Given the description of an element on the screen output the (x, y) to click on. 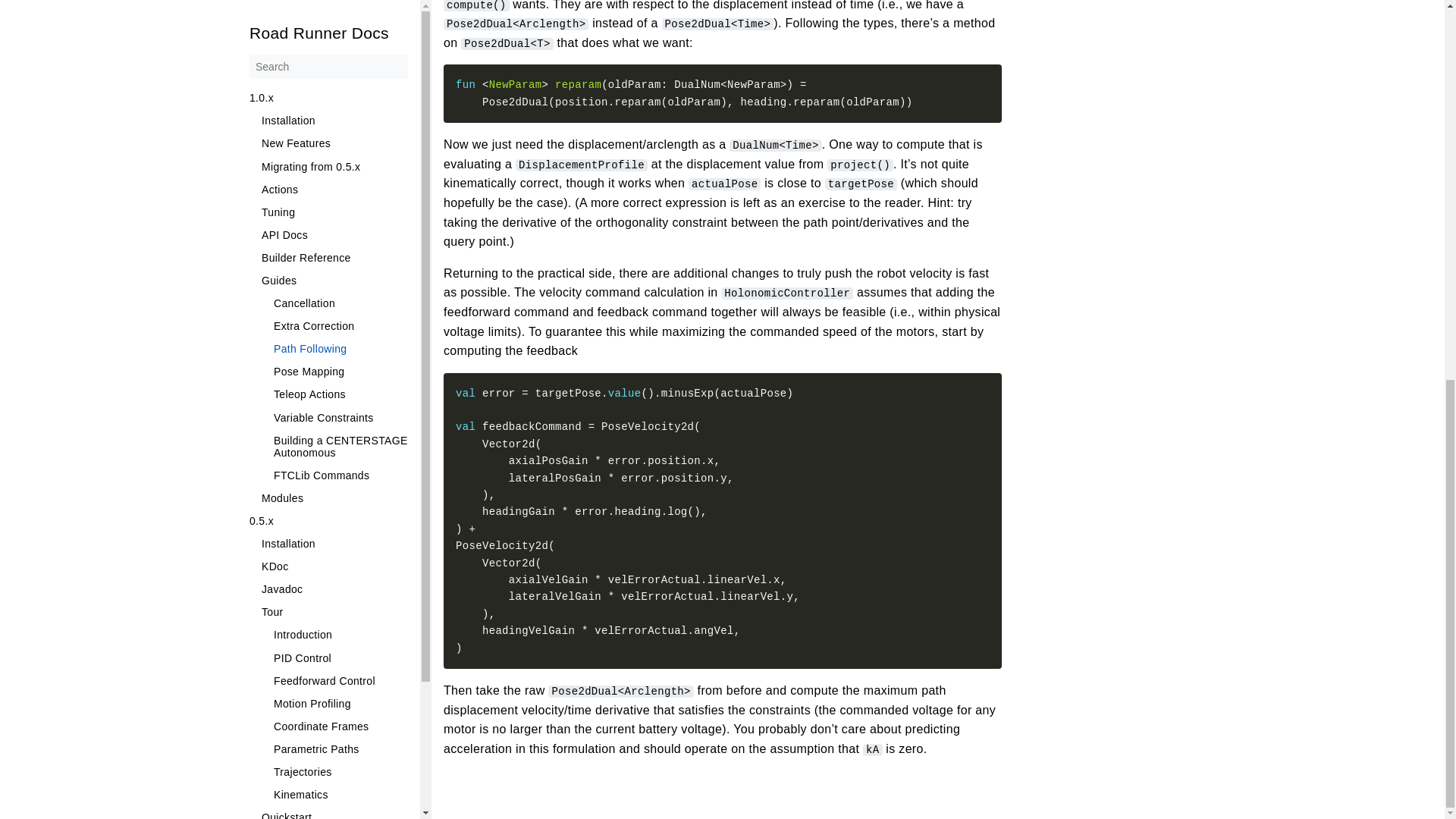
Resources (327, 202)
Tuning (340, 155)
Parametric Paths (340, 42)
MeepMeep Visualizer (327, 224)
Trajectories (340, 64)
Motion Profiling (340, 1)
Introduction (340, 133)
FAQ (340, 179)
Kinematics (340, 87)
Coordinate Frames (340, 19)
